Given the description of an element on the screen output the (x, y) to click on. 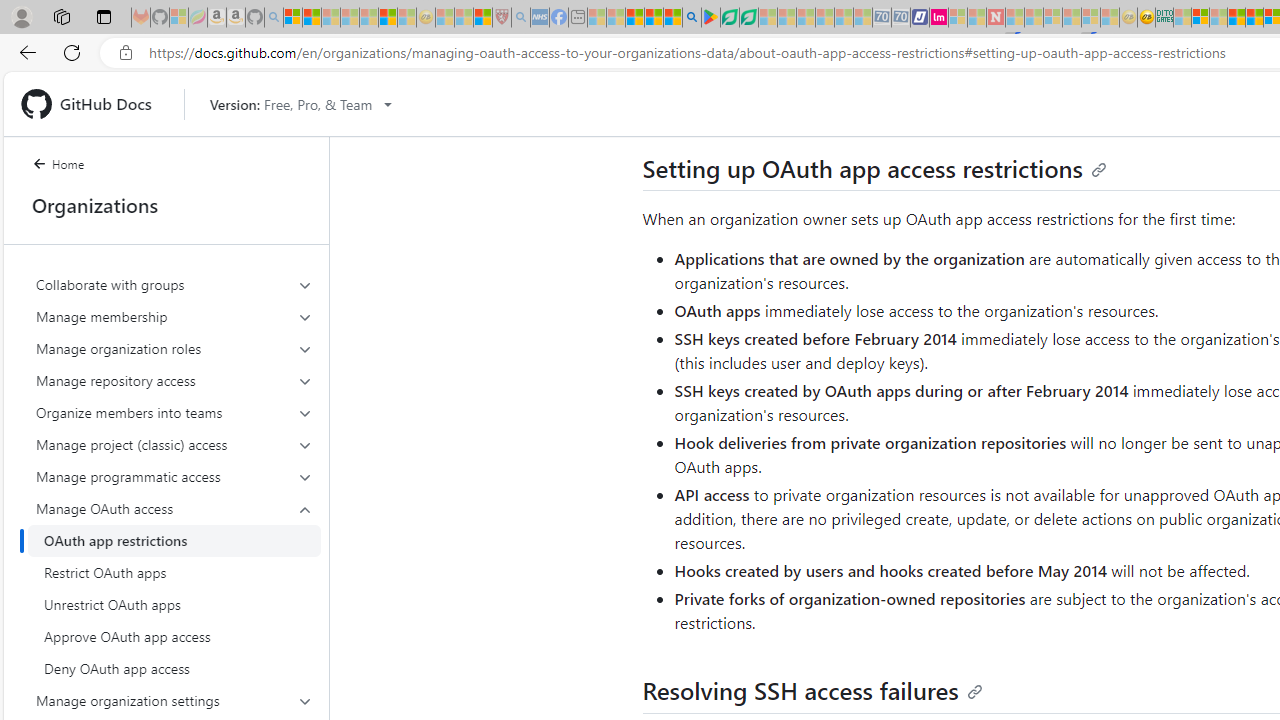
Expert Portfolios (1236, 17)
Manage project (classic) access (174, 444)
Organize members into teams (174, 412)
Approve OAuth app access (174, 636)
OAuth app restrictions (174, 540)
Manage organization roles (174, 348)
Deny OAuth app access (174, 668)
